Given the description of an element on the screen output the (x, y) to click on. 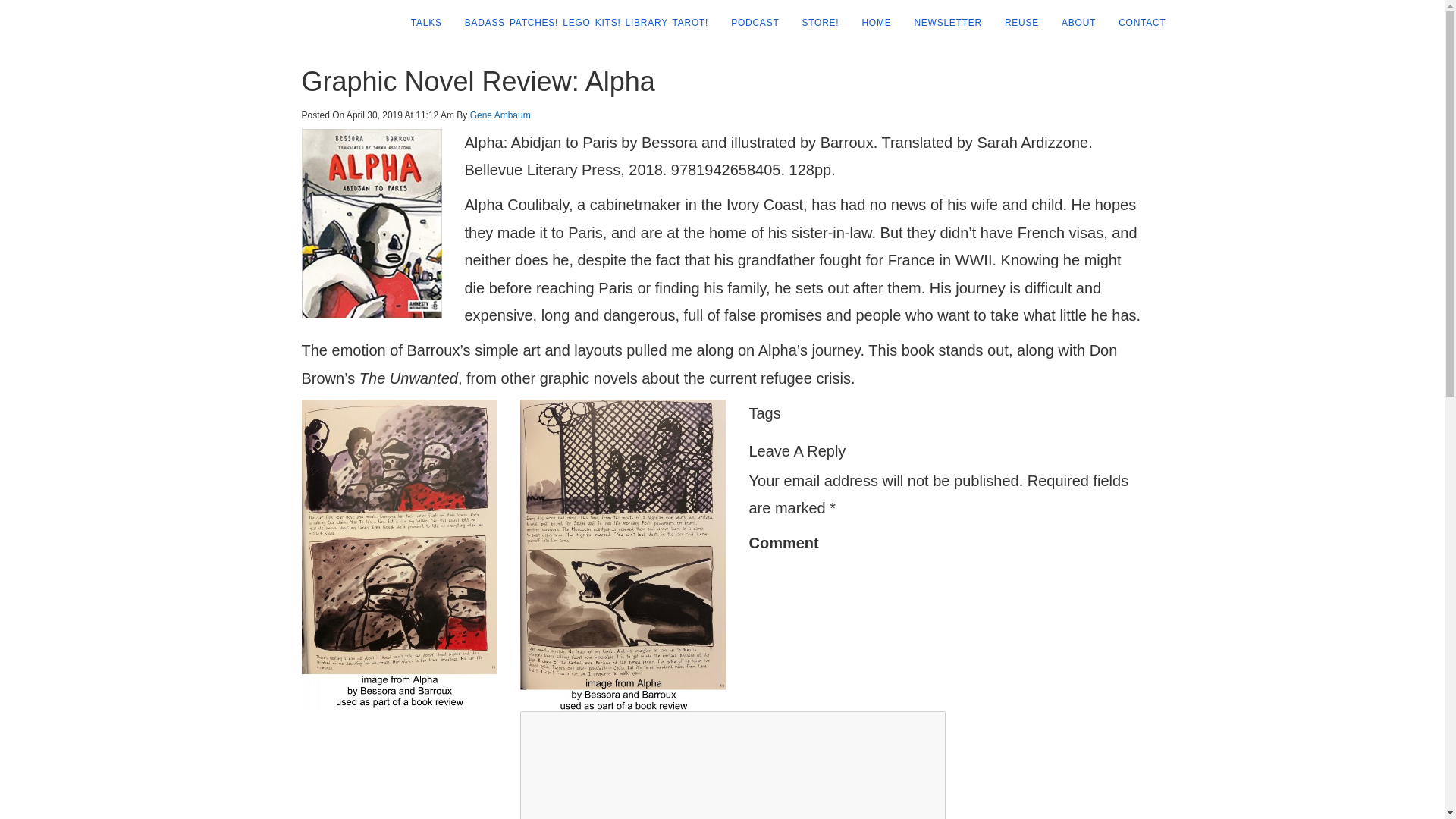
PODCAST (748, 22)
Podcast (748, 22)
Talks (420, 22)
HOME (870, 22)
Posts by Gene Ambaum (500, 114)
BADASS PATCHES! LEGO KITS! LIBRARY TAROT! (580, 22)
STORE! (814, 22)
Newsletter (941, 22)
TALKS (420, 22)
Badass patches! LEGO kits! Library Tarot! (580, 22)
